Given the description of an element on the screen output the (x, y) to click on. 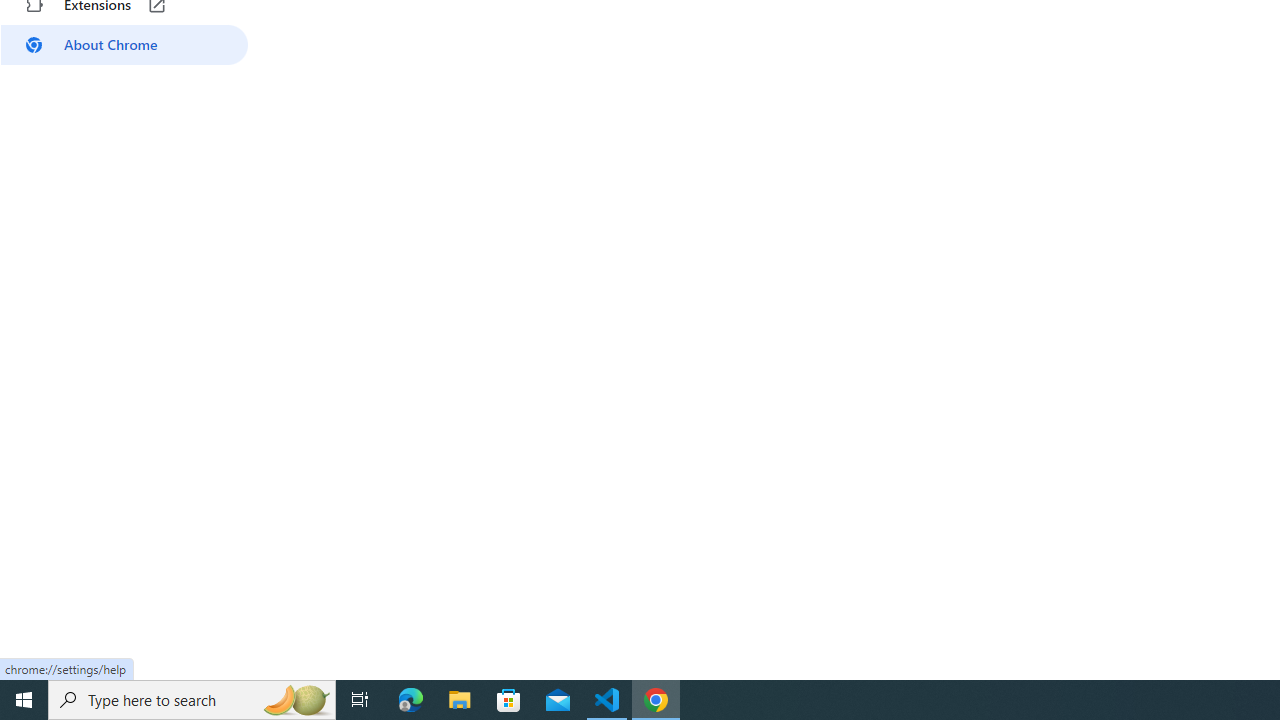
About Chrome (124, 44)
